Given the description of an element on the screen output the (x, y) to click on. 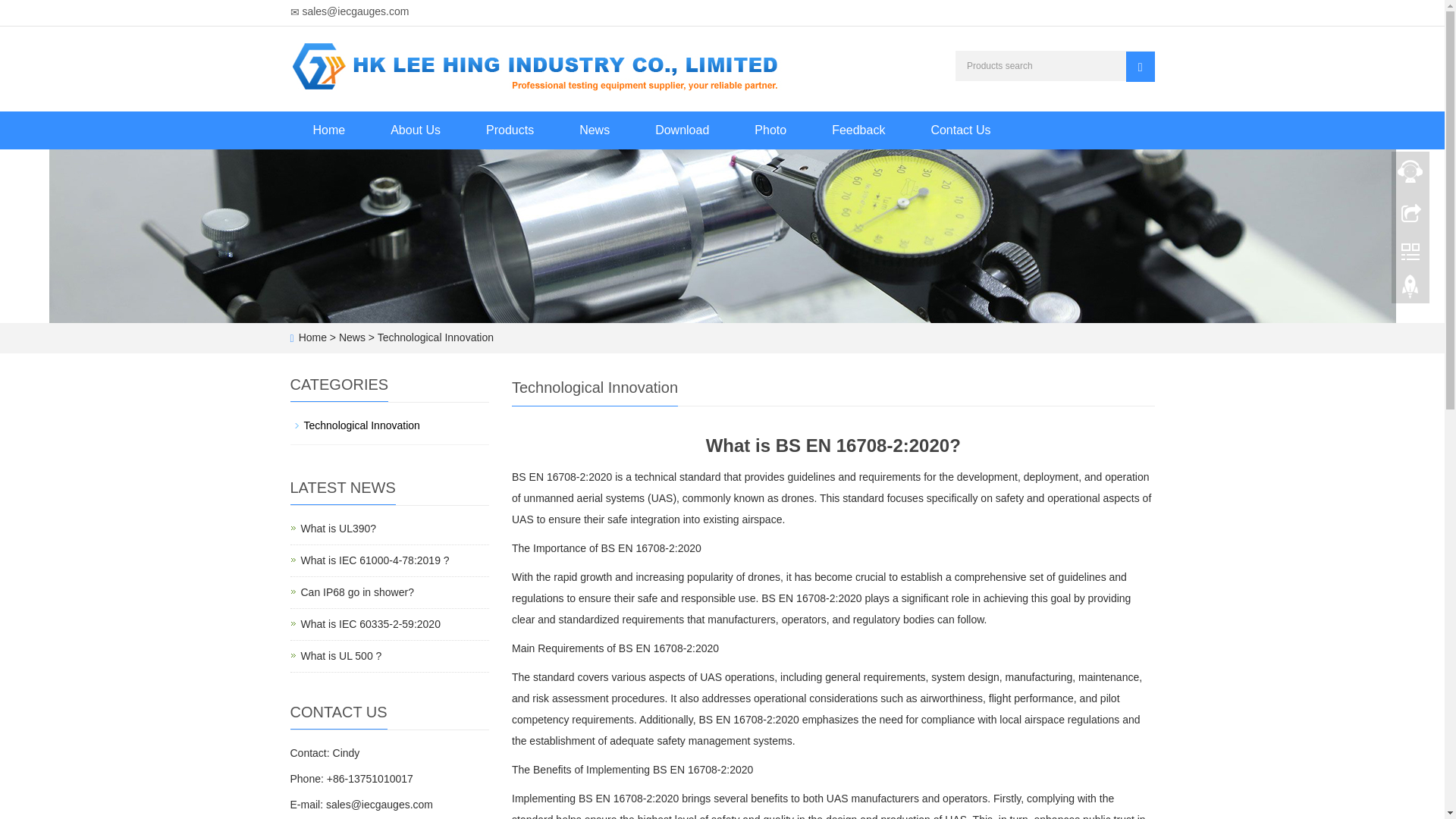
Products search (1139, 66)
What is IEC 60335-2-59:2020 (369, 623)
Can IP68 go in shower? (356, 592)
Download (681, 130)
Home (328, 130)
Top (1410, 290)
Products (509, 130)
News (593, 130)
What is UL390? (373, 560)
